Given the description of an element on the screen output the (x, y) to click on. 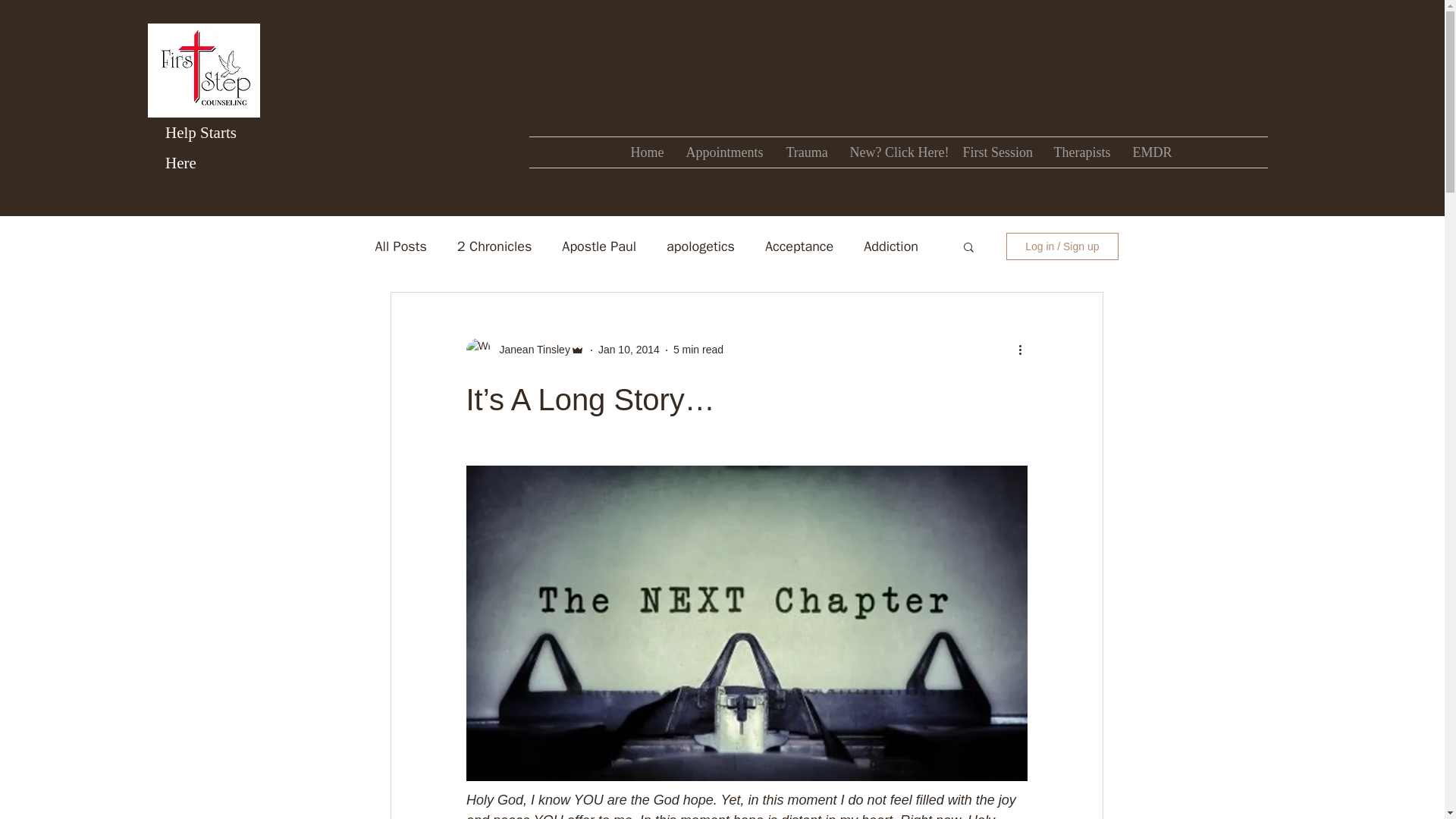
Therapists (1081, 152)
Janean Tinsley (529, 349)
EMDR (1149, 152)
Addiction (890, 246)
First Session (996, 152)
apologetics (700, 246)
Home (646, 152)
Apostle Paul (599, 246)
All Posts (400, 246)
Appointments (724, 152)
Jan 10, 2014 (628, 349)
Trauma (806, 152)
5 min read (697, 349)
Acceptance (798, 246)
New? Click Here! (895, 152)
